Given the description of an element on the screen output the (x, y) to click on. 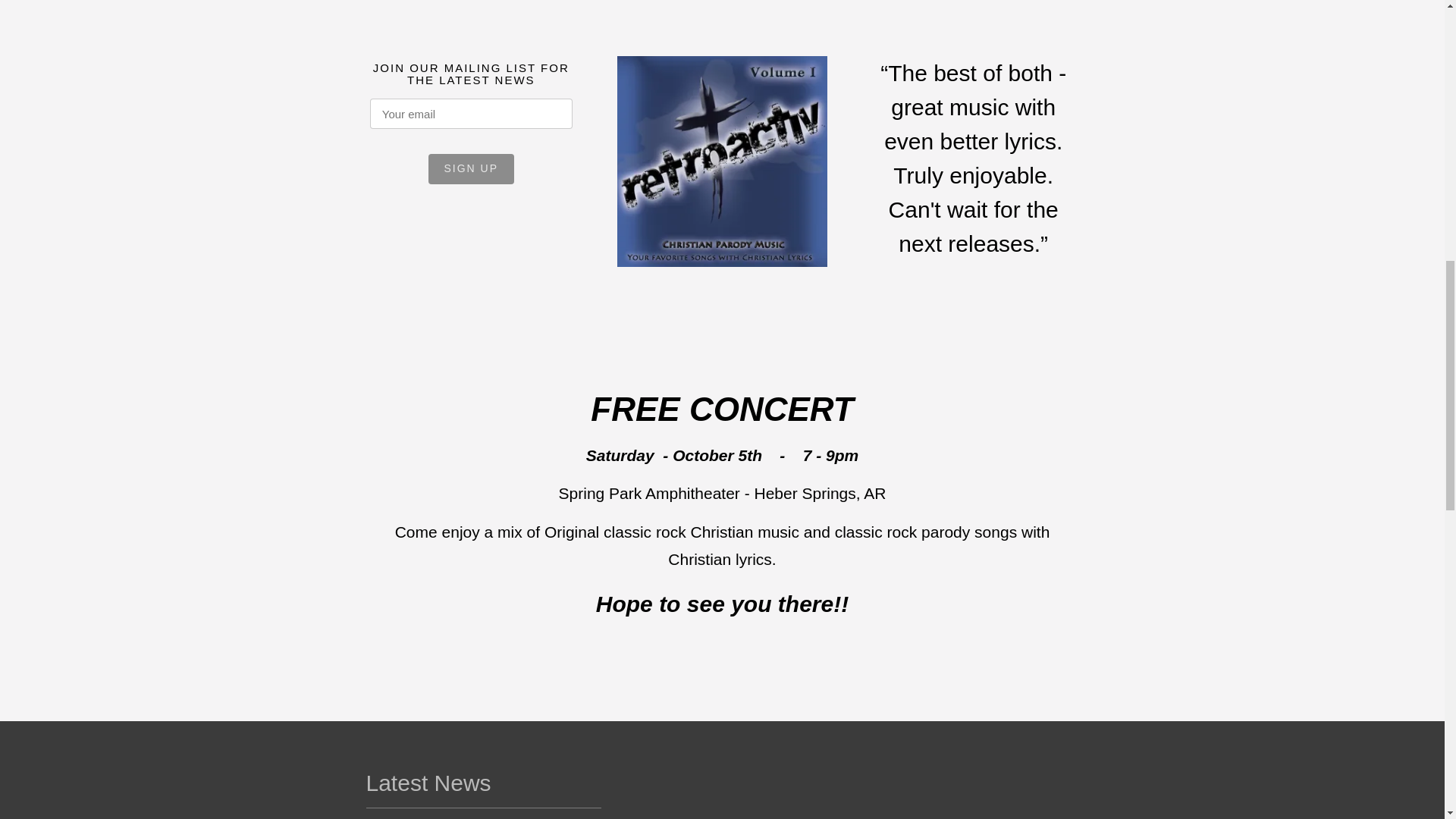
SIGN UP (470, 168)
